Given the description of an element on the screen output the (x, y) to click on. 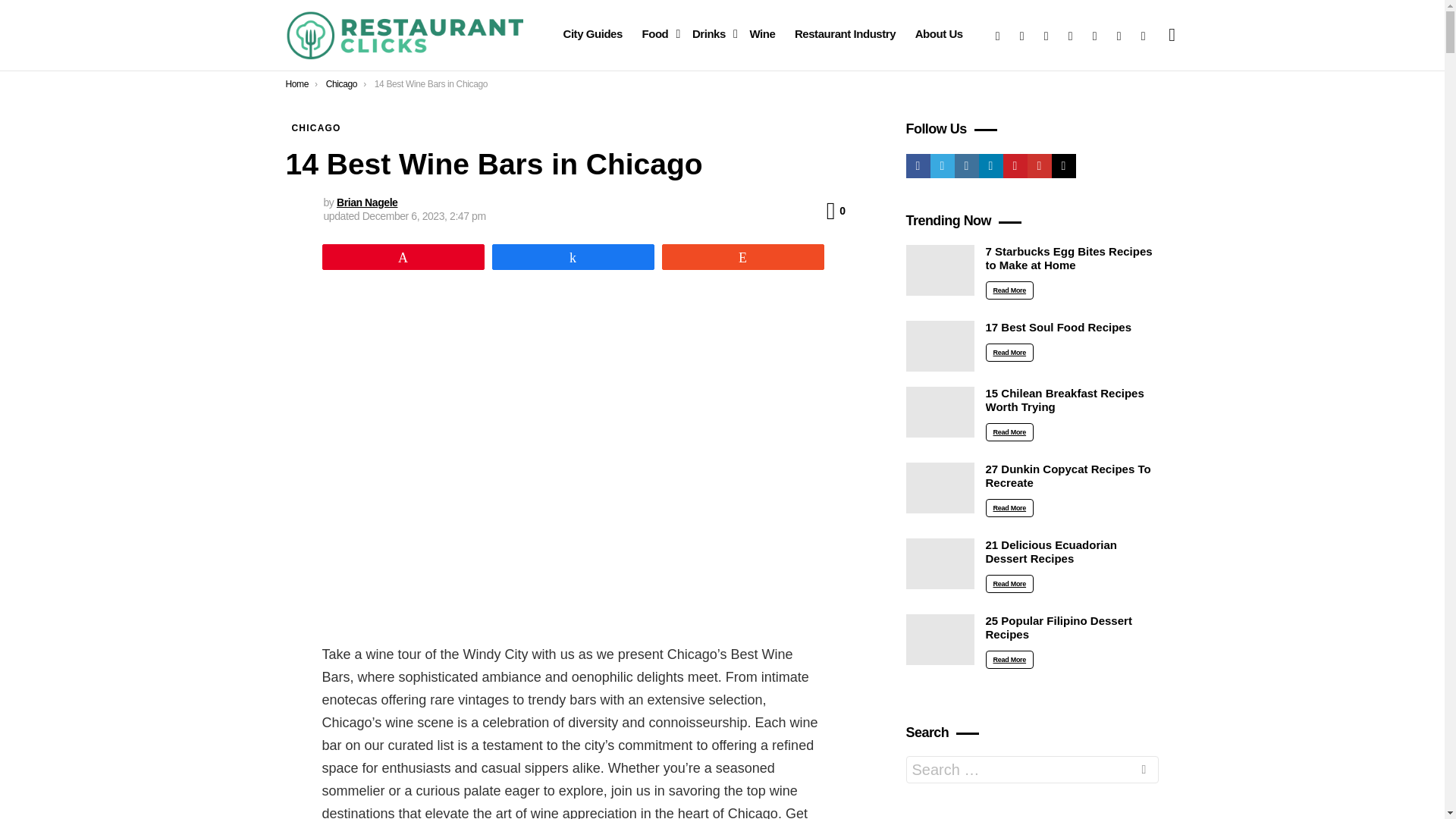
Restaurant Industry (844, 33)
About Us (939, 33)
twitter (1021, 34)
City Guides (591, 33)
pinterest (1094, 34)
Drinks (711, 33)
CHICAGO (315, 127)
facebook (997, 34)
Brian Nagele (366, 202)
Wine (762, 33)
